Given the description of an element on the screen output the (x, y) to click on. 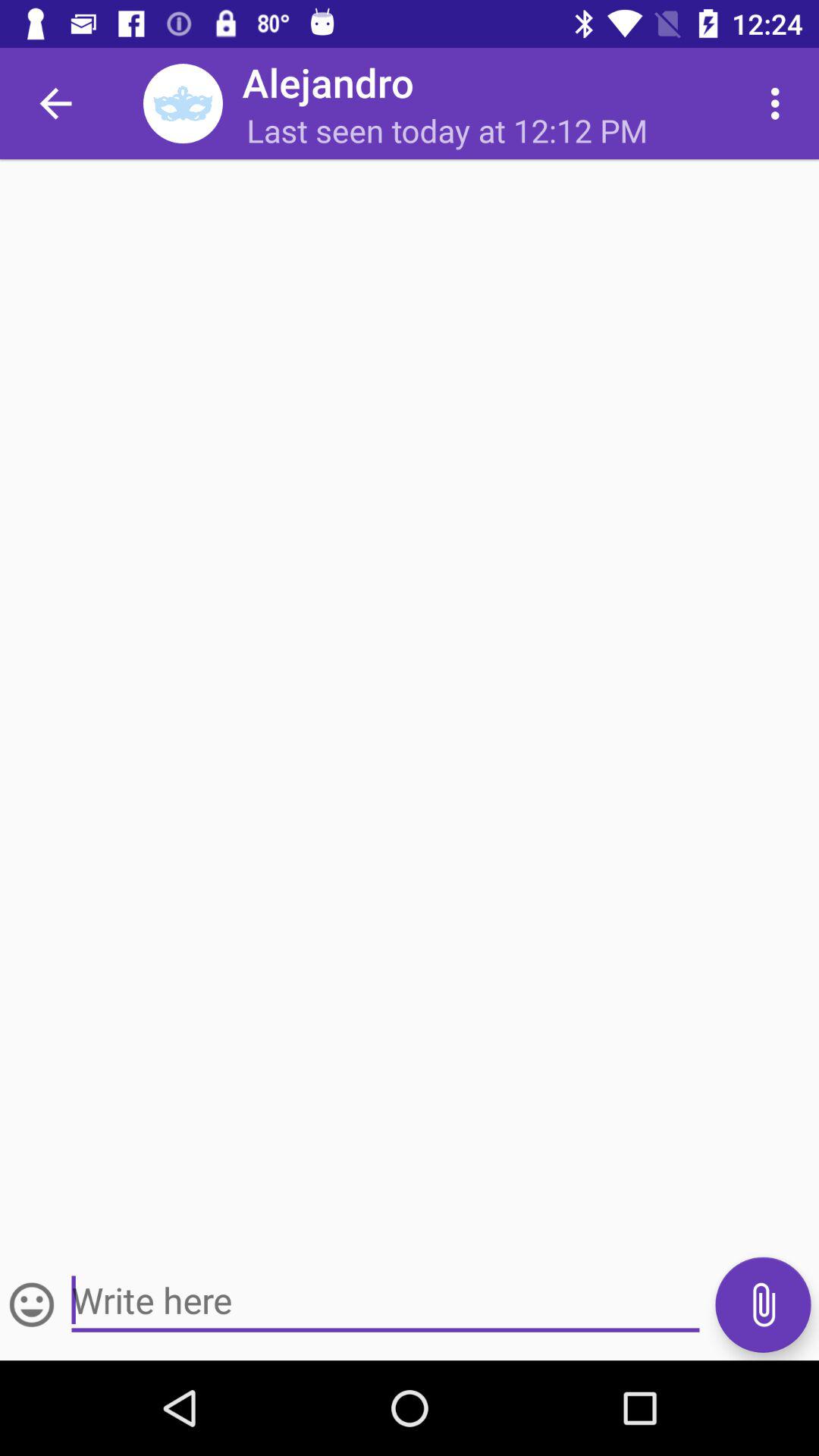
paste from the clipboard (763, 1304)
